Given the description of an element on the screen output the (x, y) to click on. 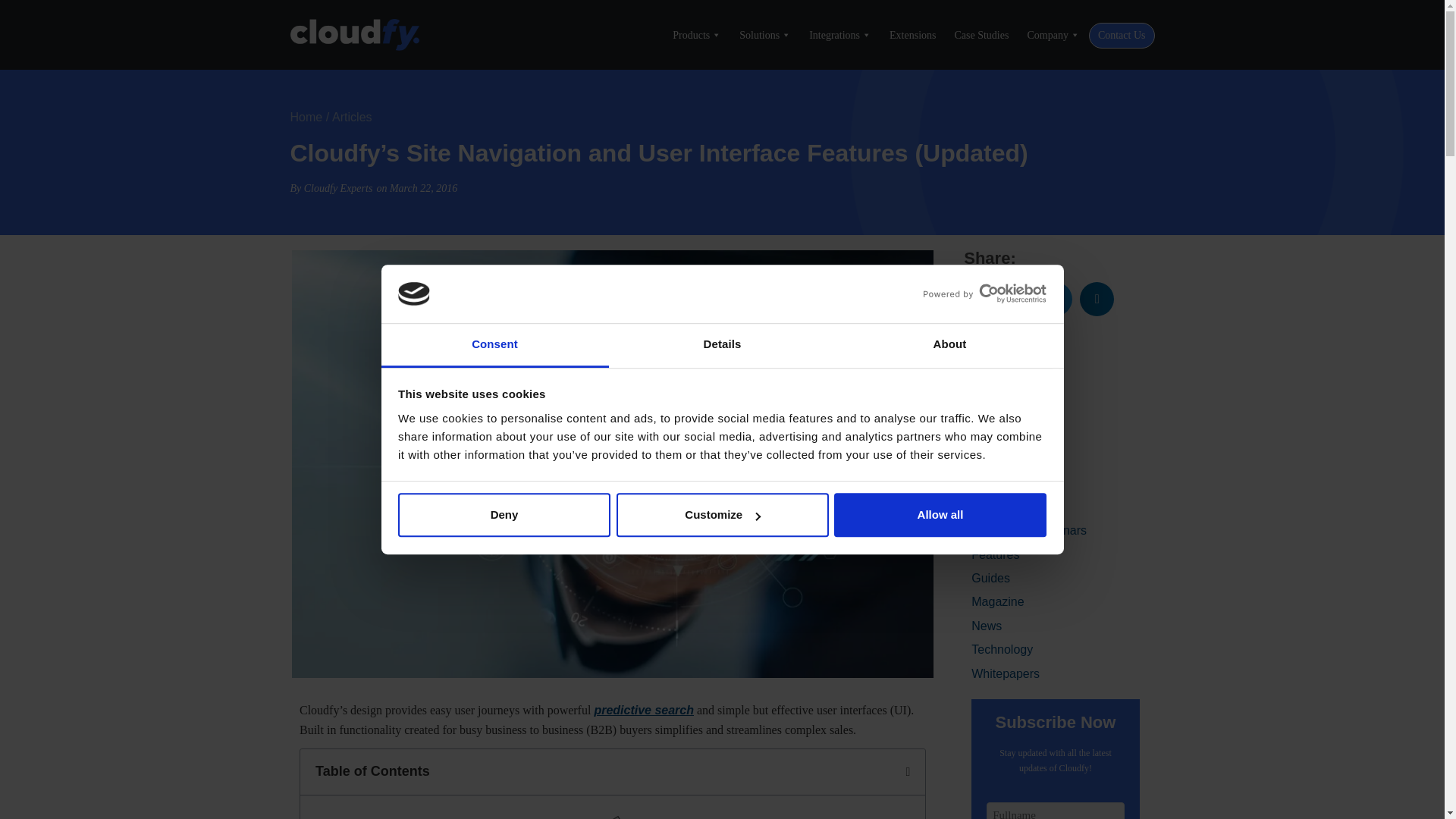
Consent (494, 345)
Details (721, 345)
About (948, 345)
